Given the description of an element on the screen output the (x, y) to click on. 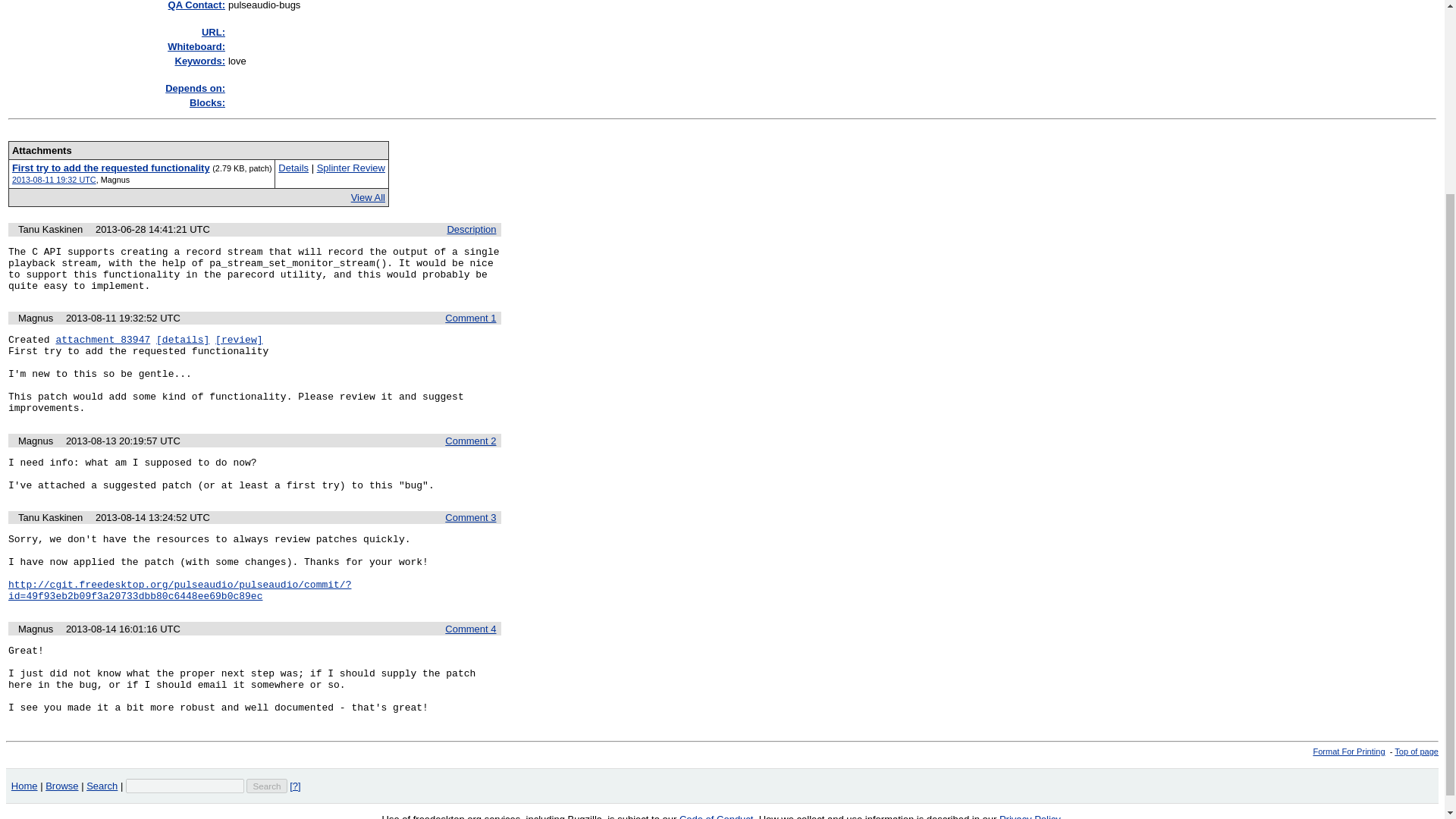
Whiteboard: (196, 46)
Details (293, 167)
Comment 2 (470, 440)
Comment 3 (470, 517)
URL: (213, 31)
2013-08-11 19:32 UTC (53, 179)
Splinter Review (351, 167)
View All (367, 197)
Comment 1 (470, 317)
Depends on: (195, 88)
